Given the description of an element on the screen output the (x, y) to click on. 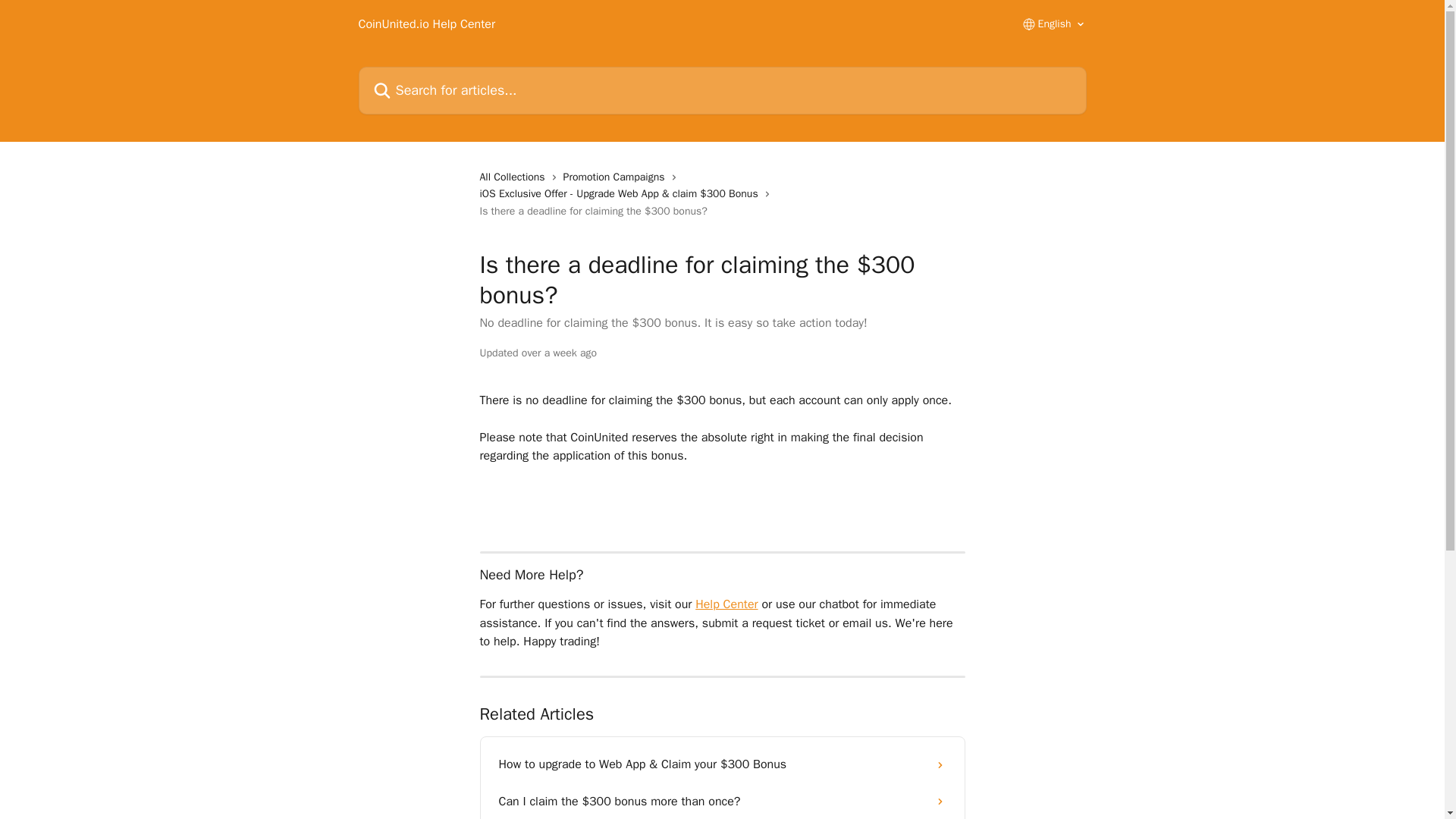
Help Center (726, 604)
Promotion Campaigns (617, 176)
All Collections (514, 176)
